Given the description of an element on the screen output the (x, y) to click on. 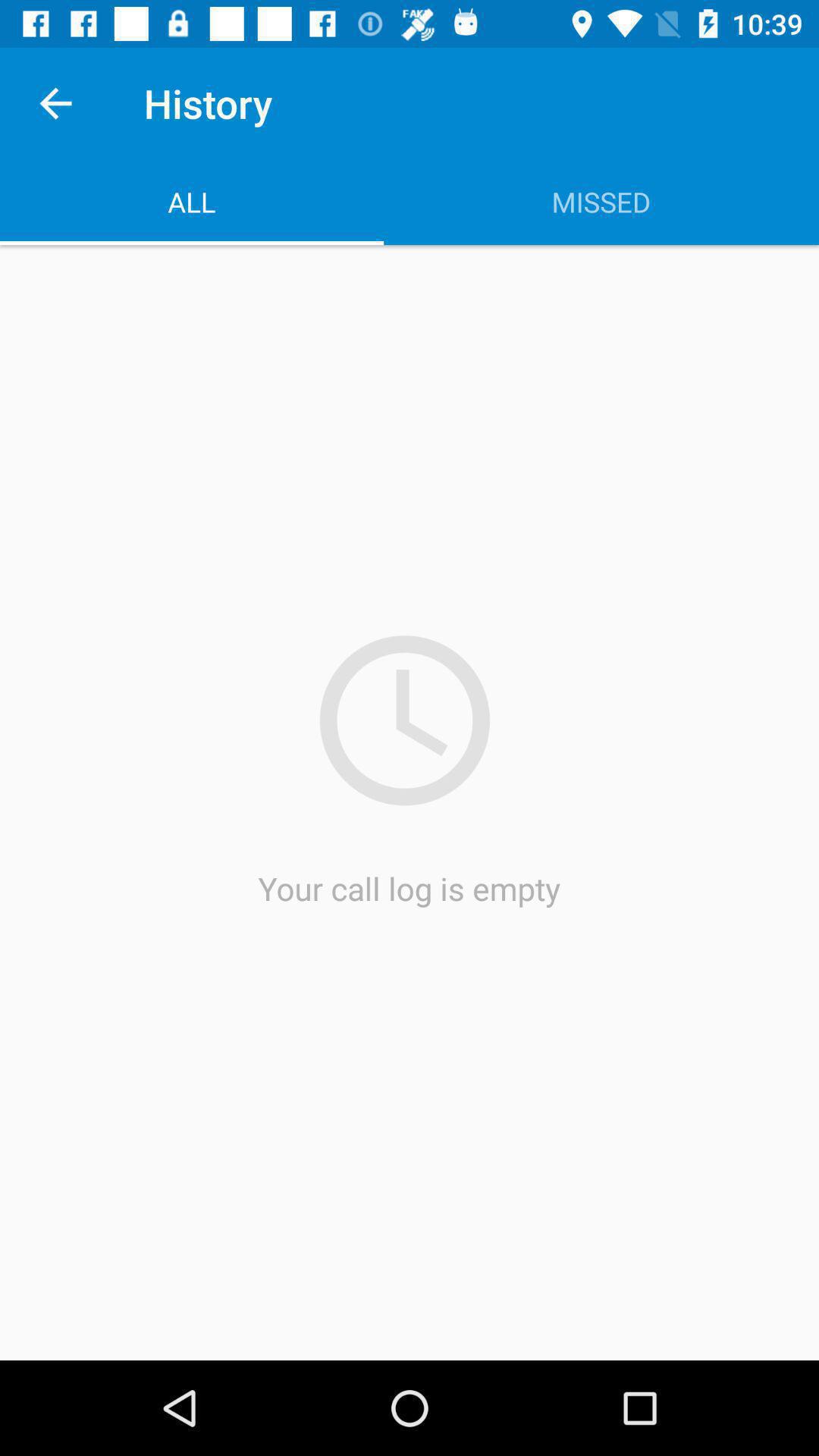
choose icon above all (55, 103)
